Given the description of an element on the screen output the (x, y) to click on. 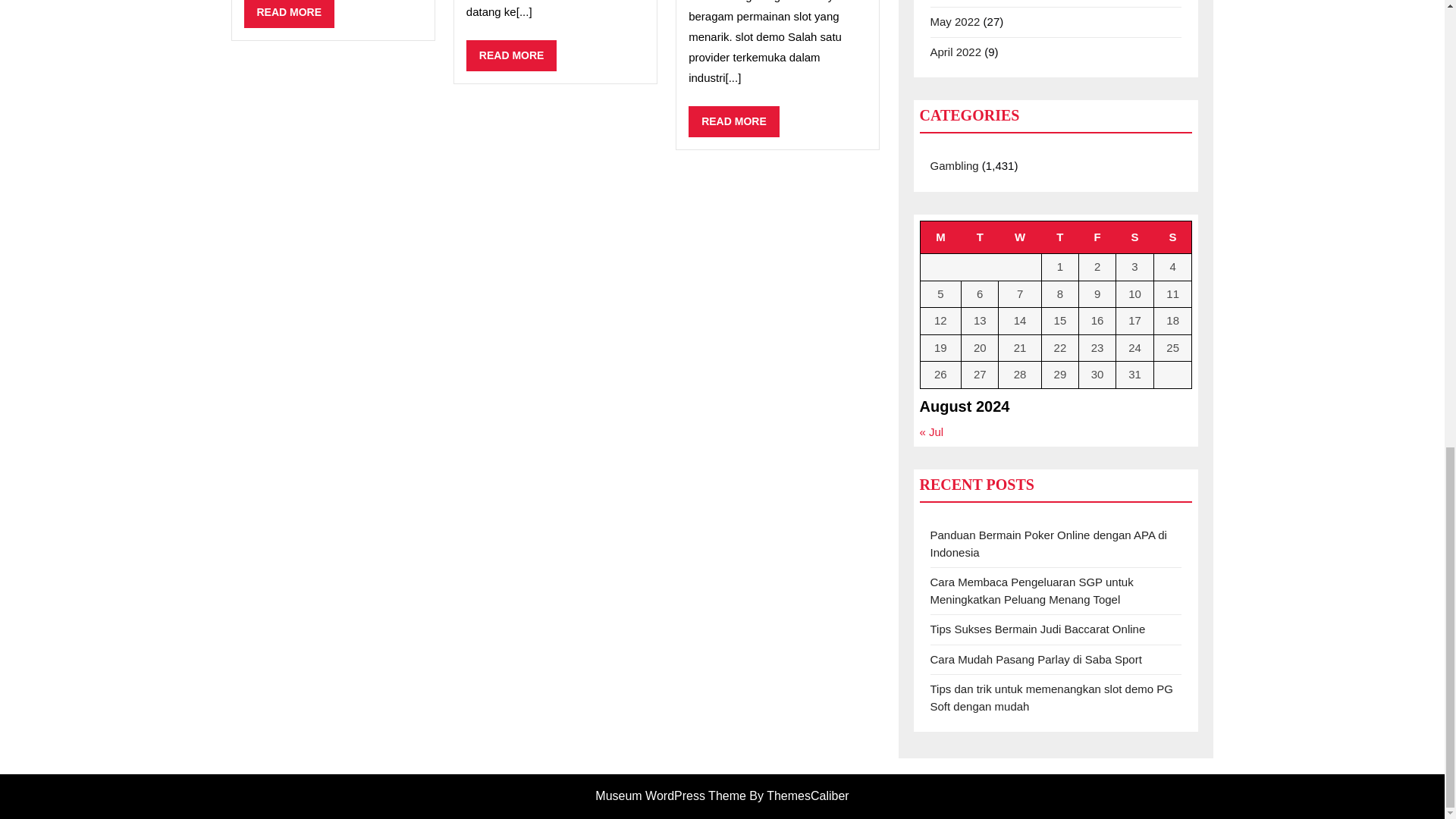
Friday (1097, 236)
Tuesday (979, 236)
Thursday (289, 13)
Saturday (1059, 236)
Sunday (1135, 236)
Wednesday (1172, 236)
Monday (1020, 236)
